Given the description of an element on the screen output the (x, y) to click on. 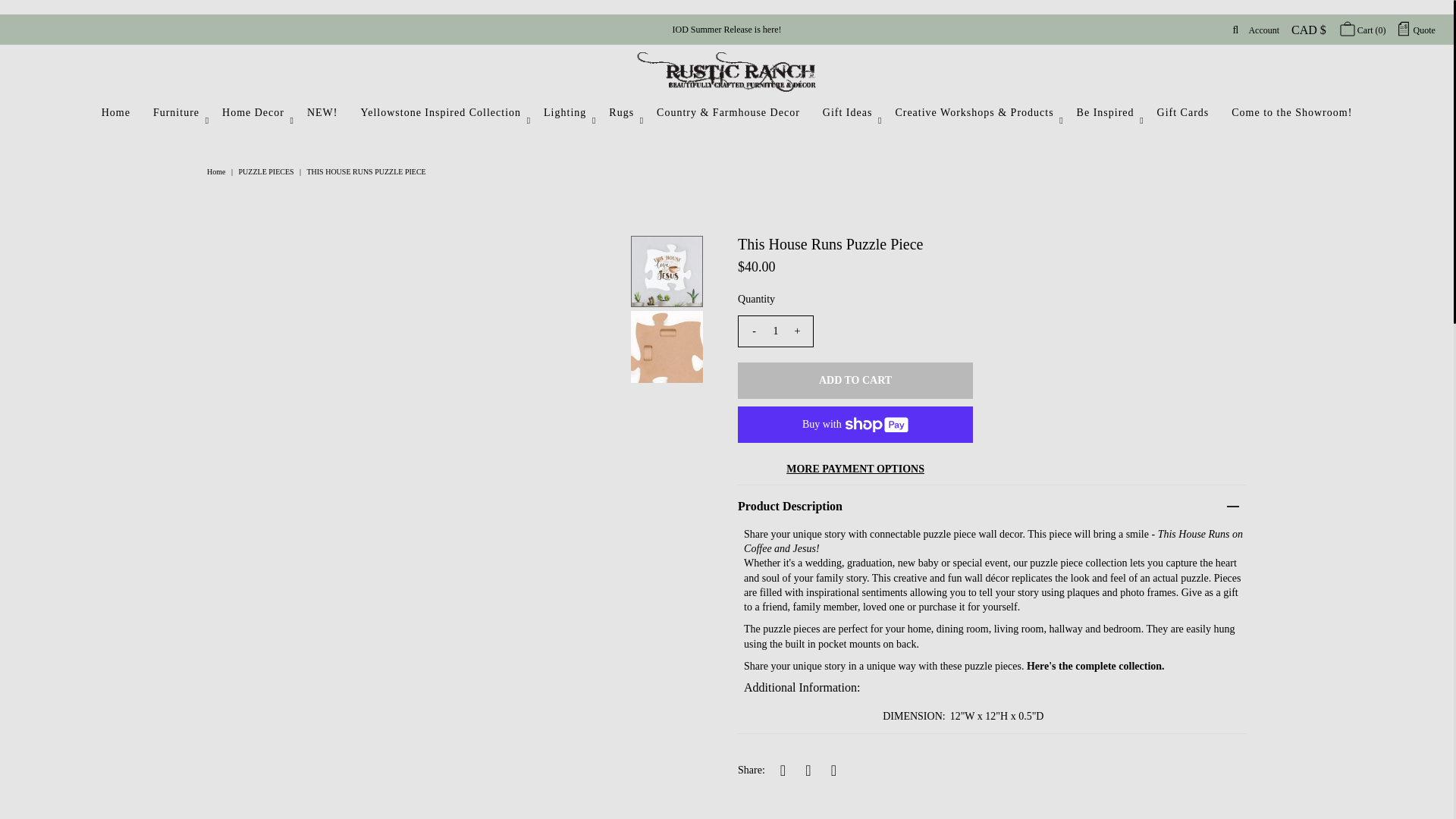
Share on Facebook (782, 769)
PUZZLE PIECES (268, 171)
Share on Pinterest (833, 769)
Add to Cart (855, 380)
Home (217, 171)
Share on Twitter (807, 769)
